Given the description of an element on the screen output the (x, y) to click on. 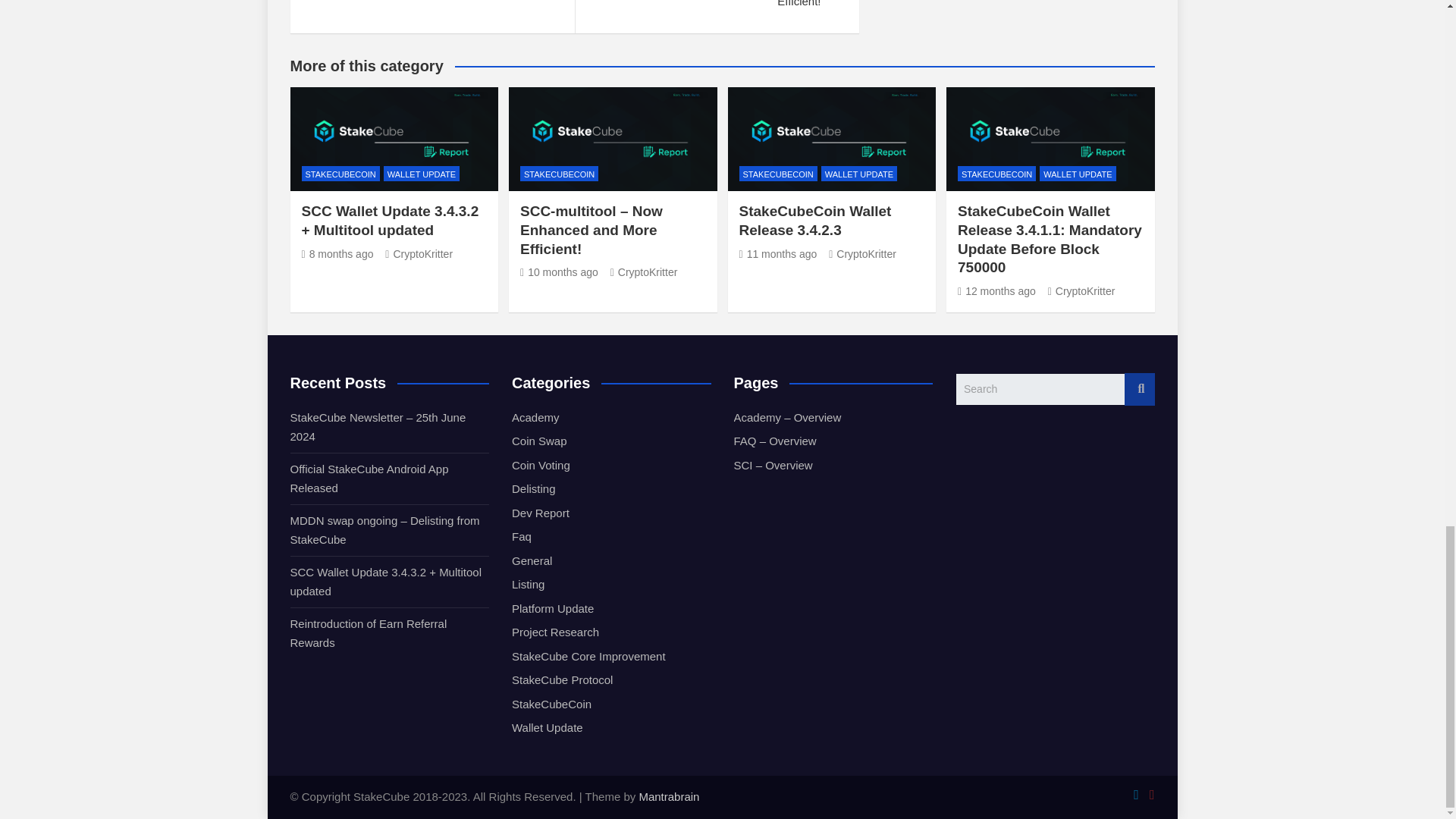
WALLET UPDATE (422, 173)
STAKECUBECOIN (340, 173)
StakeCubeCoin Wallet Release 3.4.2.3 (777, 254)
Mantrabrain (668, 796)
